Given the description of an element on the screen output the (x, y) to click on. 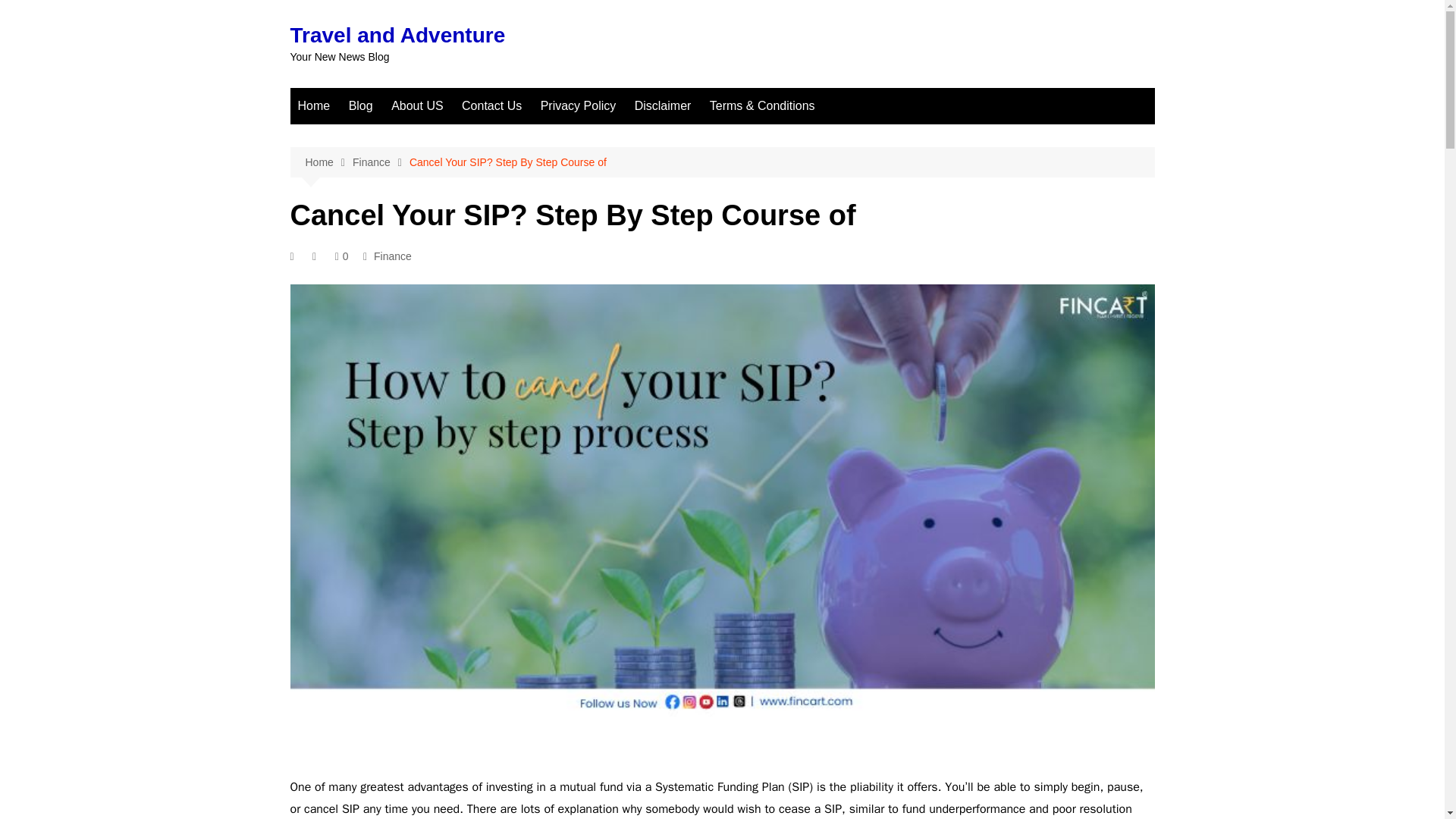
Home (328, 162)
Cancel Your SIP? Step By Step Course of (508, 161)
Disclaimer (662, 105)
Privacy Policy (578, 105)
Travel and Adventure (397, 34)
Home (313, 105)
Blog (360, 105)
Finance (380, 162)
About US (416, 105)
Contact Us (491, 105)
Finance (393, 256)
